Given the description of an element on the screen output the (x, y) to click on. 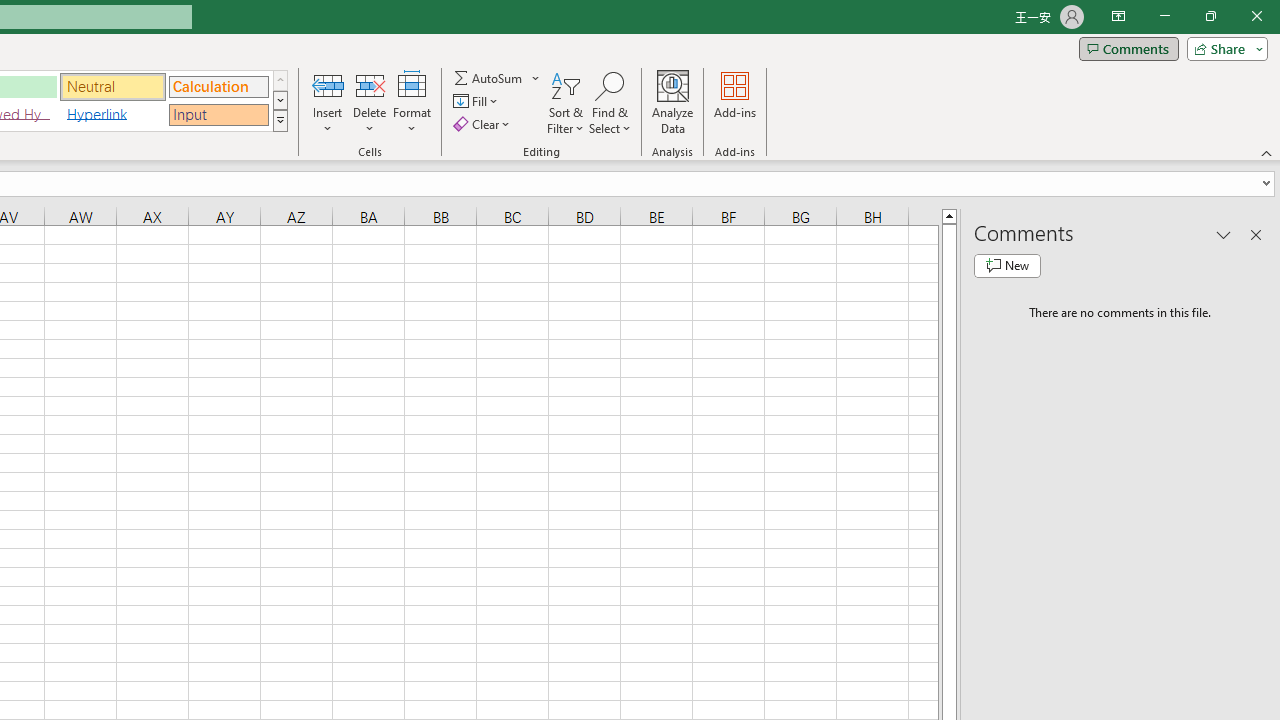
Analyze Data (673, 102)
Hyperlink (113, 114)
Delete (369, 102)
Calculation (218, 86)
